Given the description of an element on the screen output the (x, y) to click on. 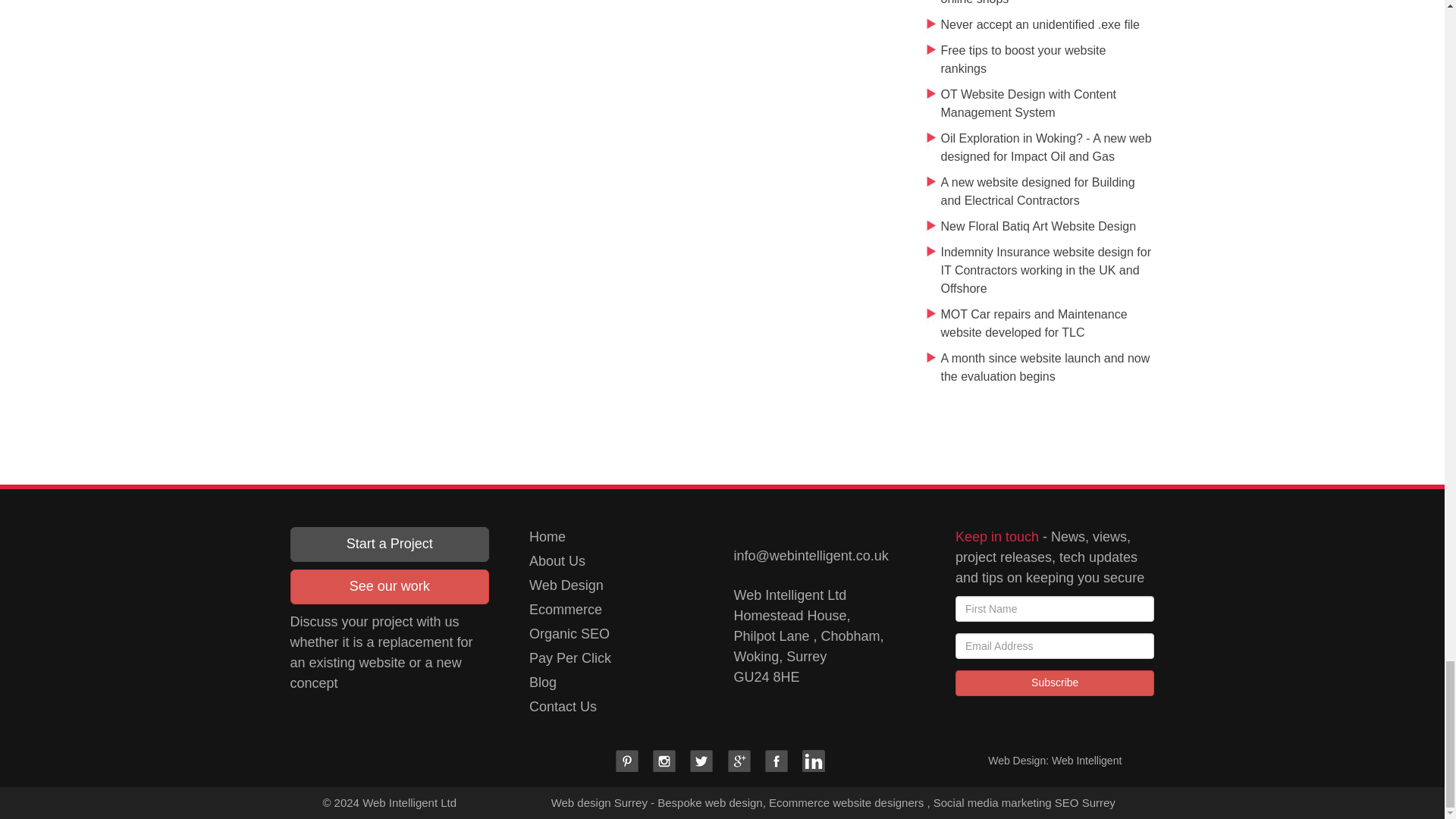
Subscribe (1054, 683)
